Given the description of an element on the screen output the (x, y) to click on. 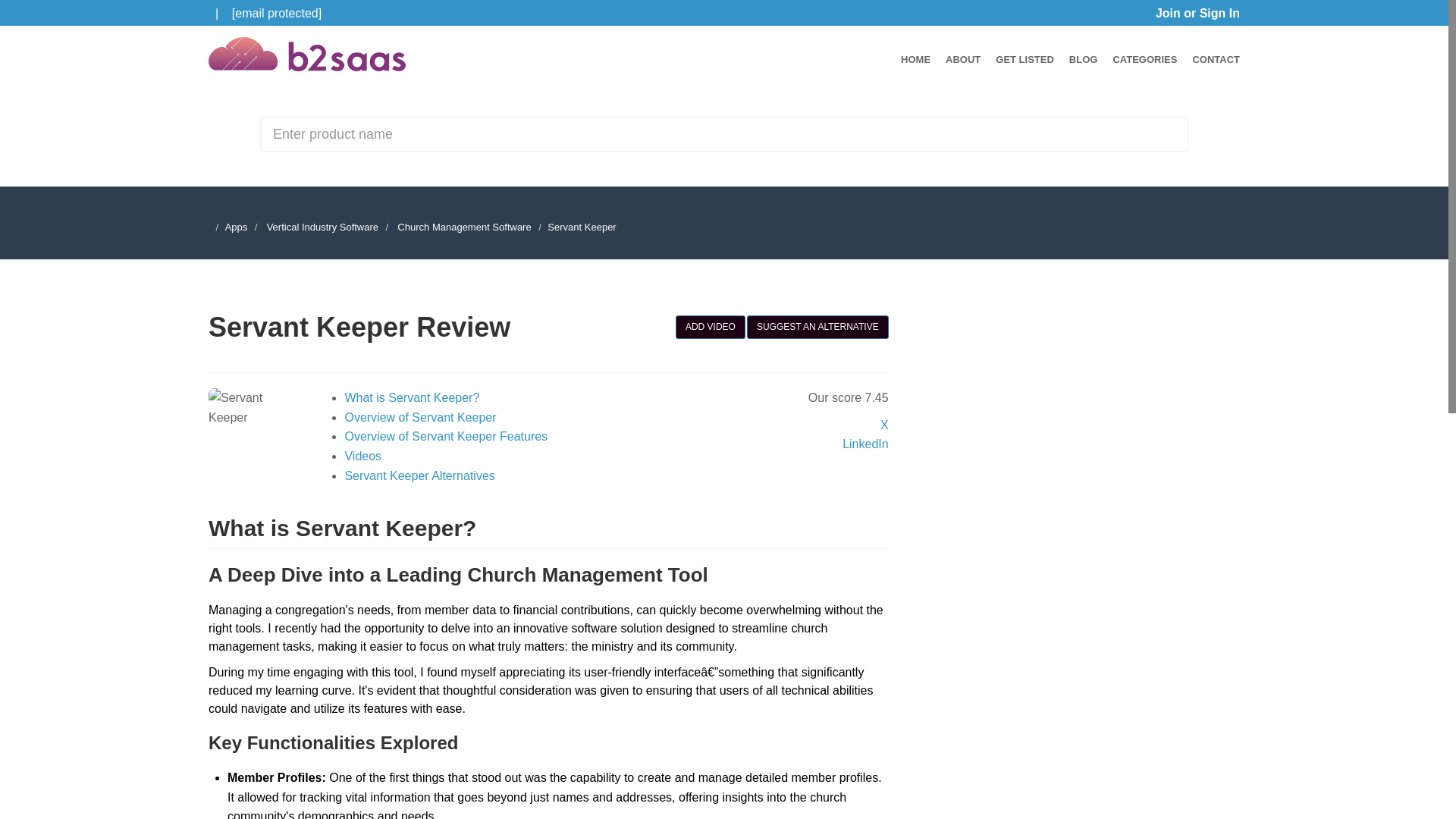
Join or Sign In (1198, 12)
GET LISTED (1024, 59)
ADD VIDEO (710, 327)
Apps (236, 226)
ABOUT (961, 59)
Overview of Servant Keeper Features (445, 436)
CATEGORIES (1144, 59)
Vertical Industry Software (322, 226)
SUGGEST AN ALTERNATIVE (817, 327)
CONTACT (1216, 59)
What is Servant Keeper? (411, 397)
Overview of Servant Keeper (419, 417)
Servant Keeper Alternatives (419, 475)
Videos (362, 455)
Church Management Software (464, 226)
